Given the description of an element on the screen output the (x, y) to click on. 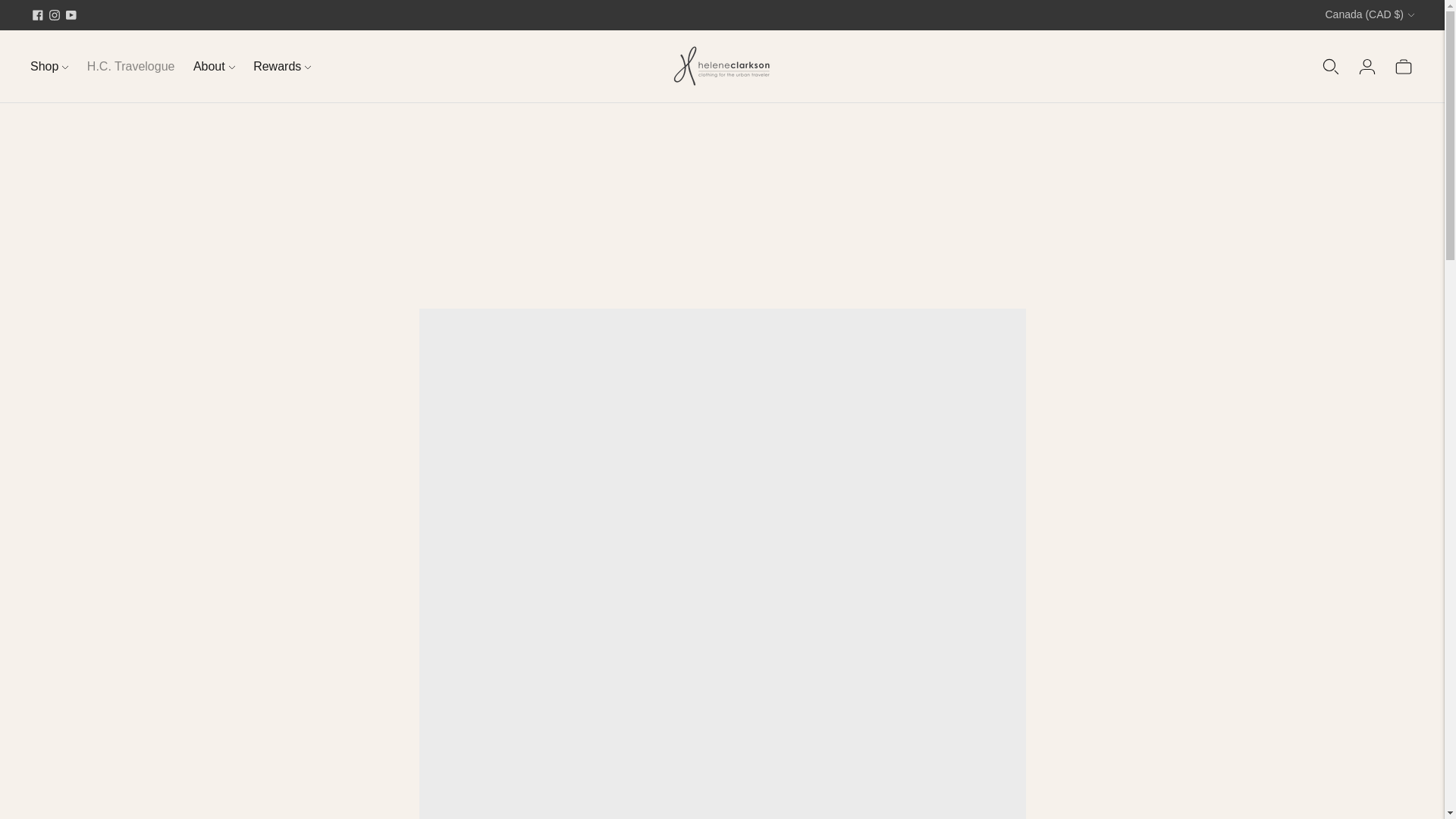
Helene Clarkson Design on Facebook (37, 14)
Helene Clarkson Design on Instagram (54, 14)
Helene Clarkson Design on YouTube (71, 14)
